Given the description of an element on the screen output the (x, y) to click on. 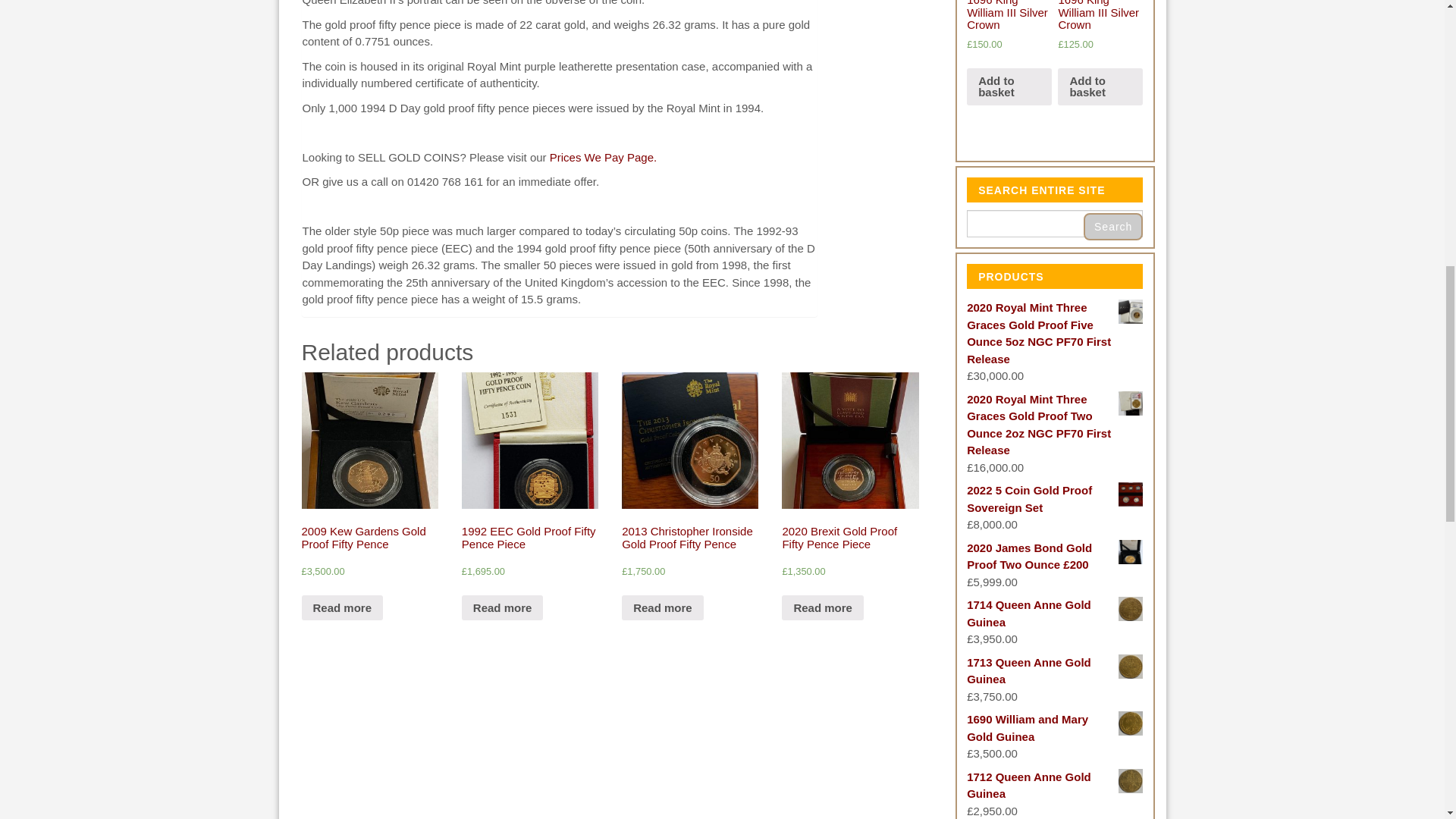
Prices We Pay Page. (603, 156)
Search (1112, 226)
Read more (342, 607)
Read more (502, 607)
Read more (662, 607)
